Given the description of an element on the screen output the (x, y) to click on. 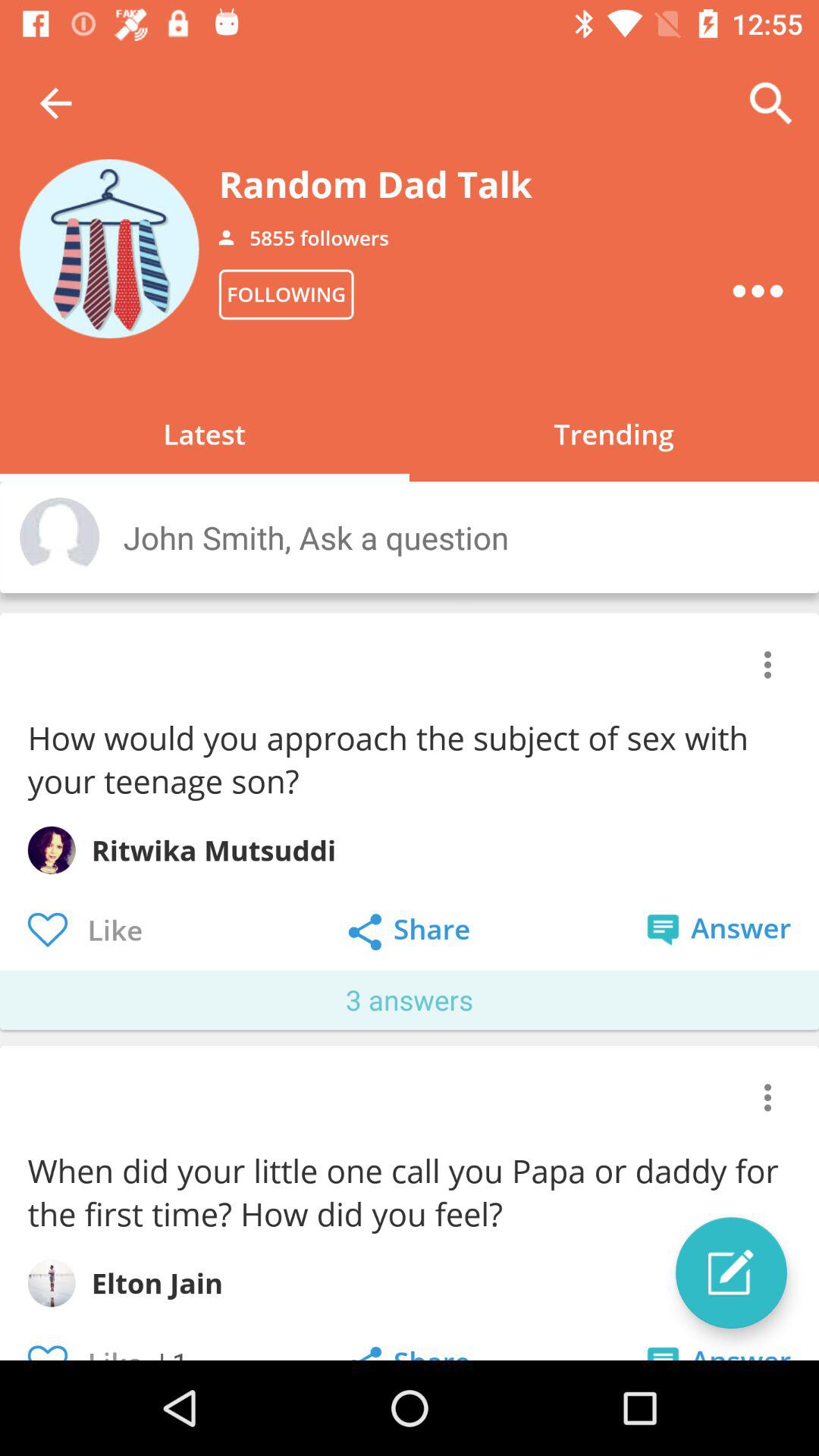
choose the icon next to share (731, 1272)
